Given the description of an element on the screen output the (x, y) to click on. 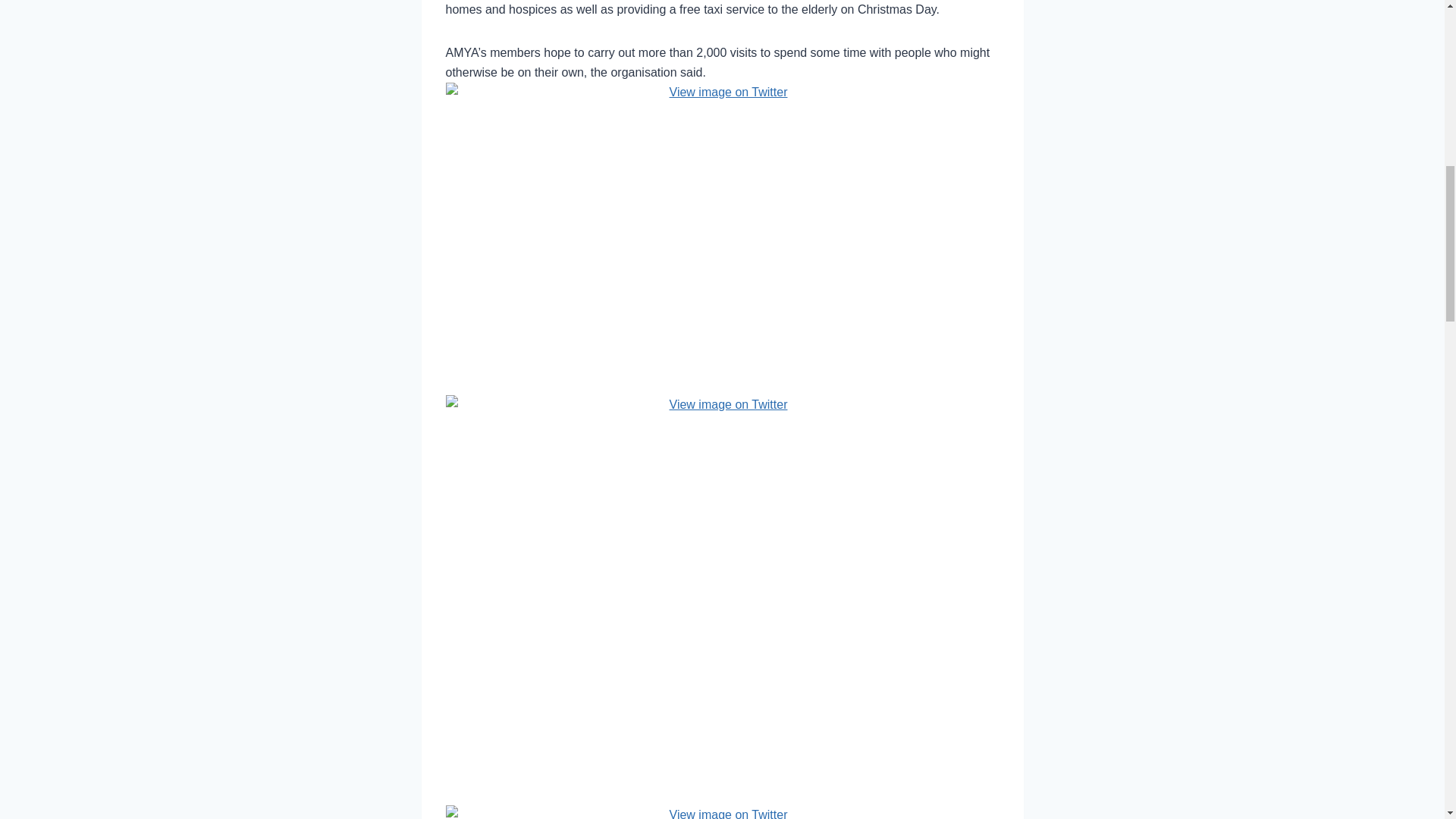
View image on Twitter (721, 812)
